Given the description of an element on the screen output the (x, y) to click on. 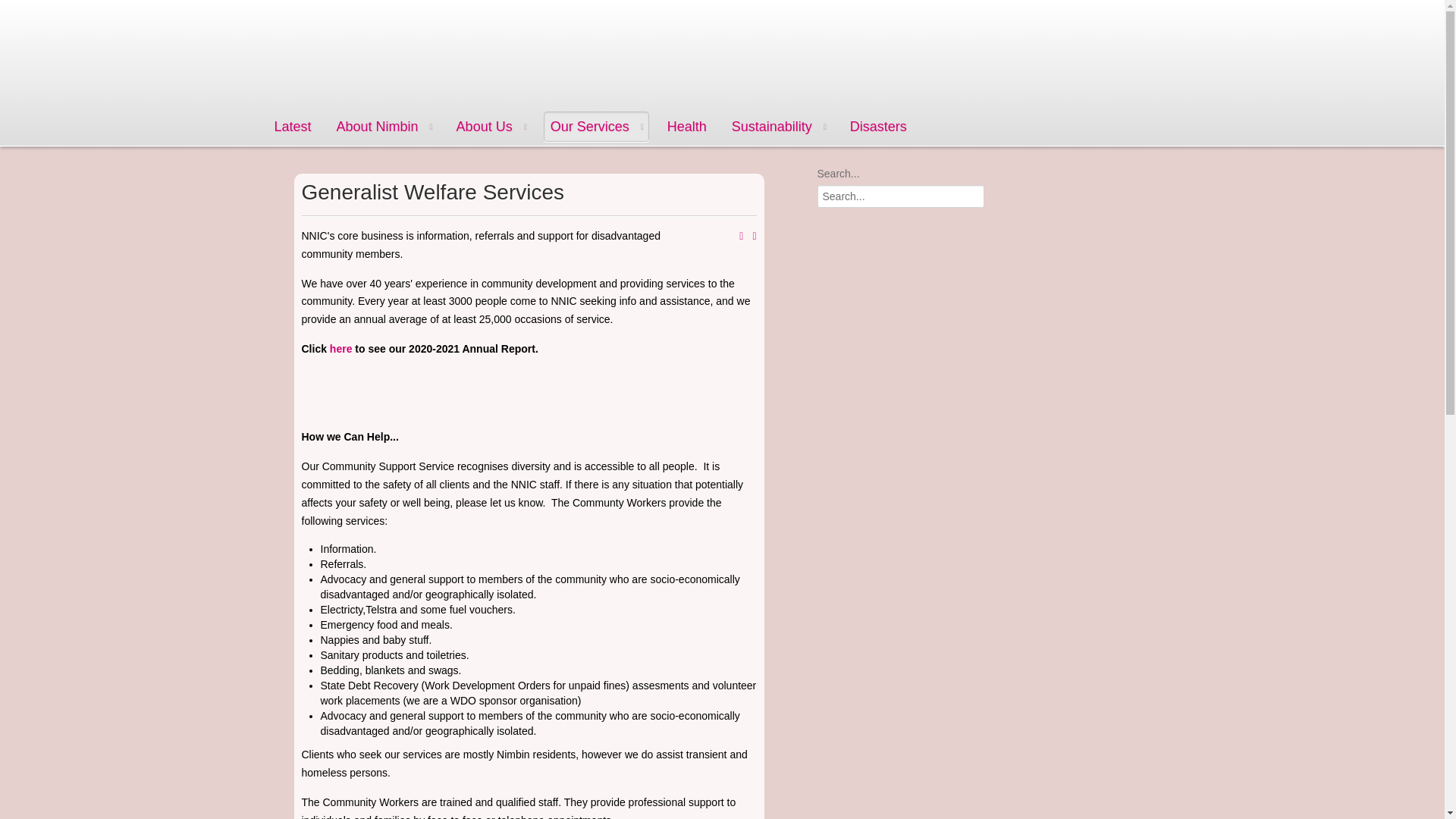
Email Element type: hover (754, 236)
Disasters Element type: text (878, 126)
Health Element type: text (686, 126)
here Element type: text (340, 348)
About Us Element type: text (490, 126)
Our Services Element type: text (596, 126)
Sustainability Element type: text (778, 126)
About Nimbin Element type: text (383, 126)
Latest Element type: text (292, 126)
Print Element type: hover (741, 236)
